Given the description of an element on the screen output the (x, y) to click on. 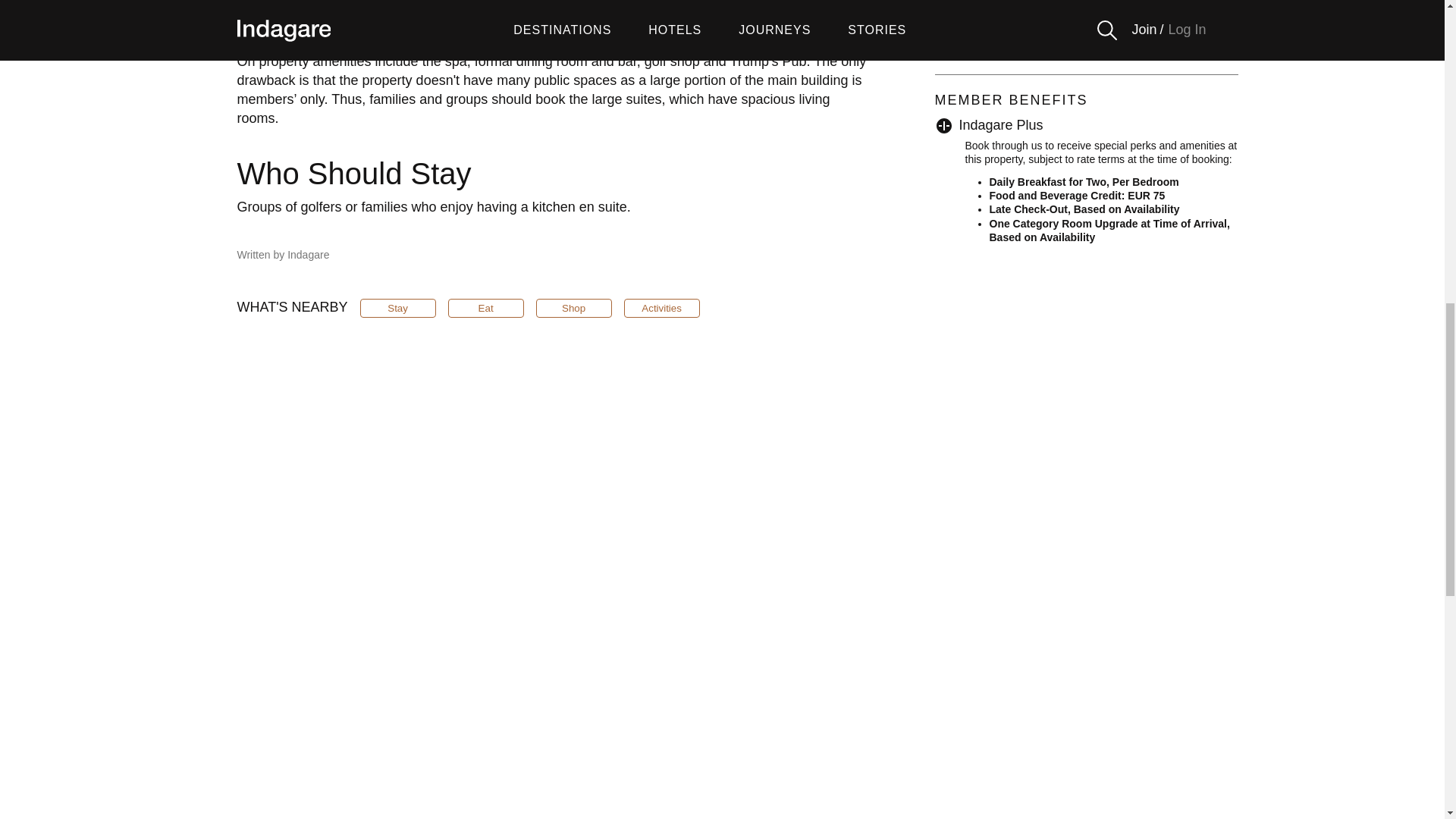
Stay (397, 307)
Activities (662, 307)
Shop (573, 307)
Eat (486, 307)
